Given the description of an element on the screen output the (x, y) to click on. 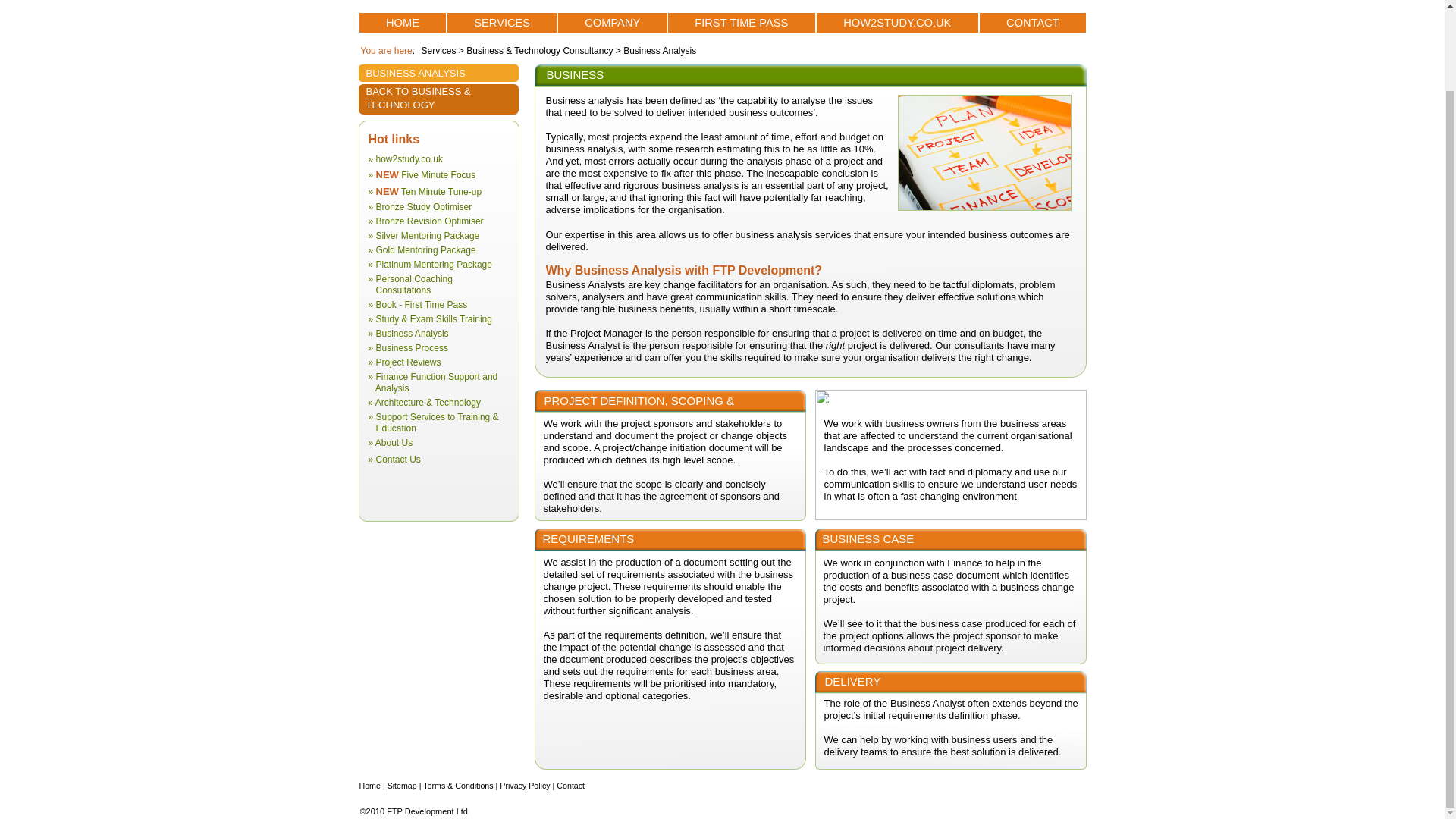
HOME (402, 22)
Privacy Policy (525, 785)
CONTACT (1032, 22)
Services (440, 50)
HOW2STUDY.CO.UK (896, 22)
COMPANY (611, 22)
Business Analysis (658, 50)
FIRST TIME PASS (740, 22)
Home (370, 785)
SERVICES (501, 22)
